Given the description of an element on the screen output the (x, y) to click on. 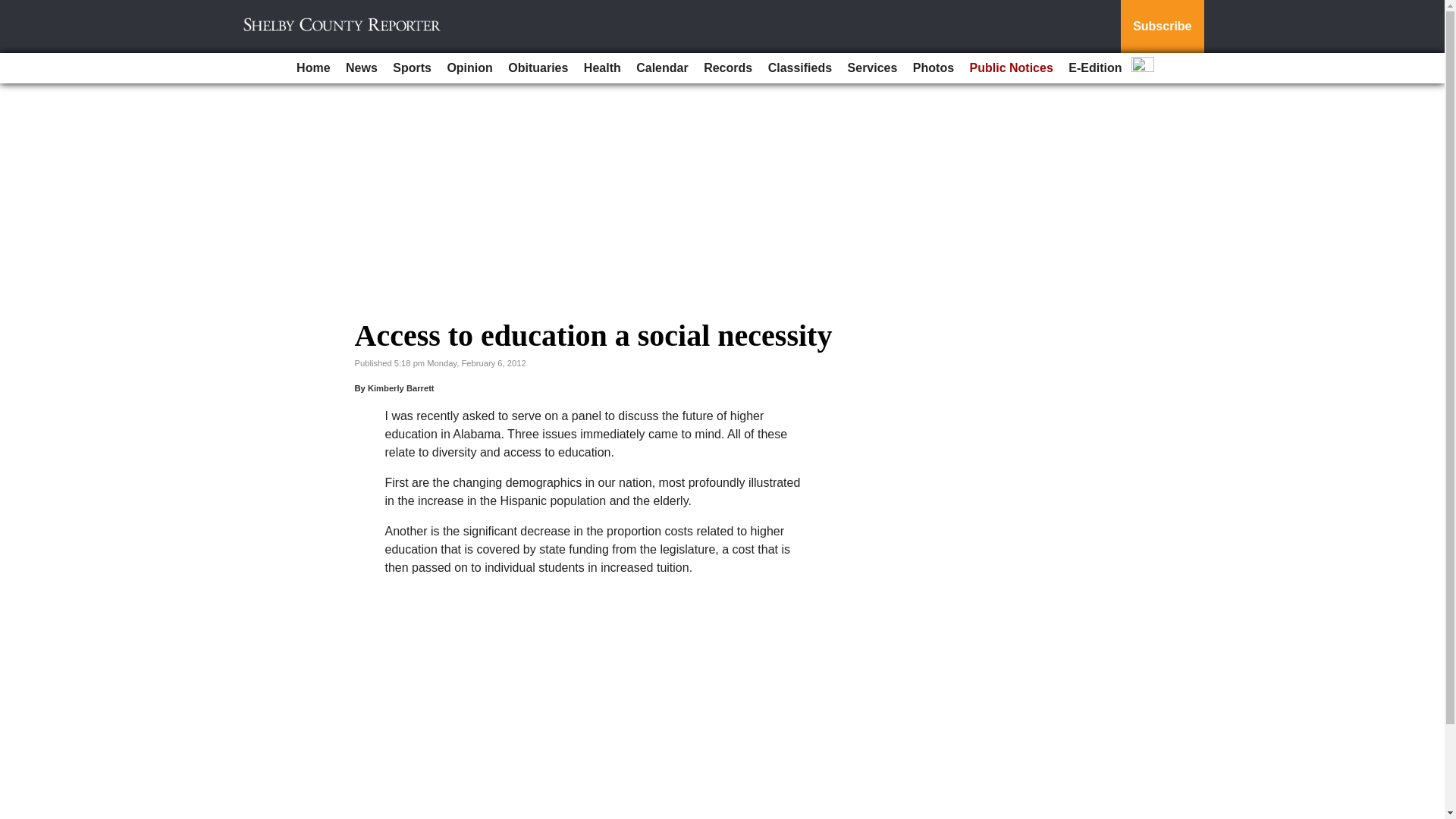
Obituaries (537, 68)
Health (602, 68)
Sports (412, 68)
Records (727, 68)
News (361, 68)
Classifieds (799, 68)
Subscribe (1162, 26)
Opinion (469, 68)
Services (872, 68)
Calendar (662, 68)
